Given the description of an element on the screen output the (x, y) to click on. 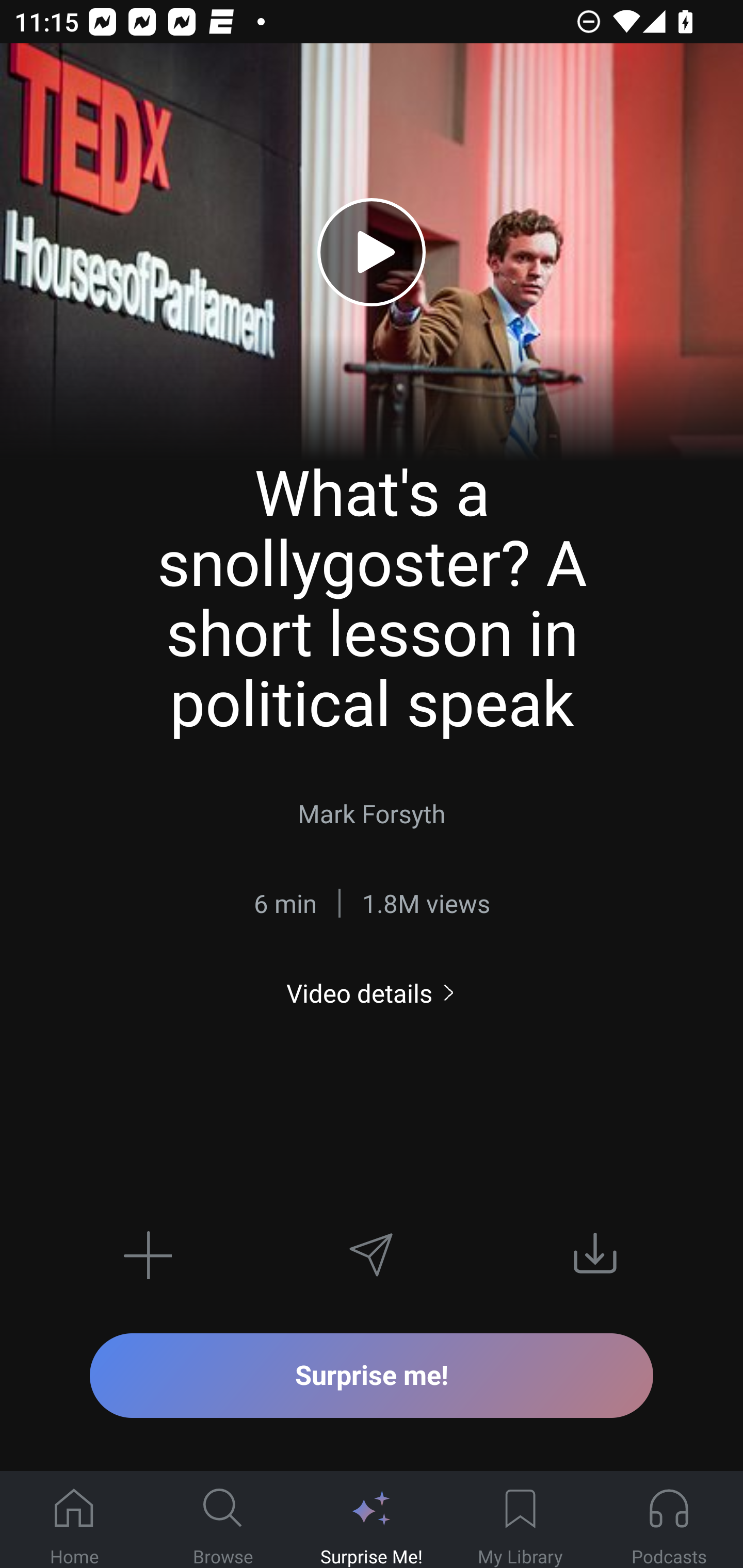
Video details (371, 993)
Surprise me! (371, 1374)
Home (74, 1520)
Browse (222, 1520)
Surprise Me! (371, 1520)
My Library (519, 1520)
Podcasts (668, 1520)
